Given the description of an element on the screen output the (x, y) to click on. 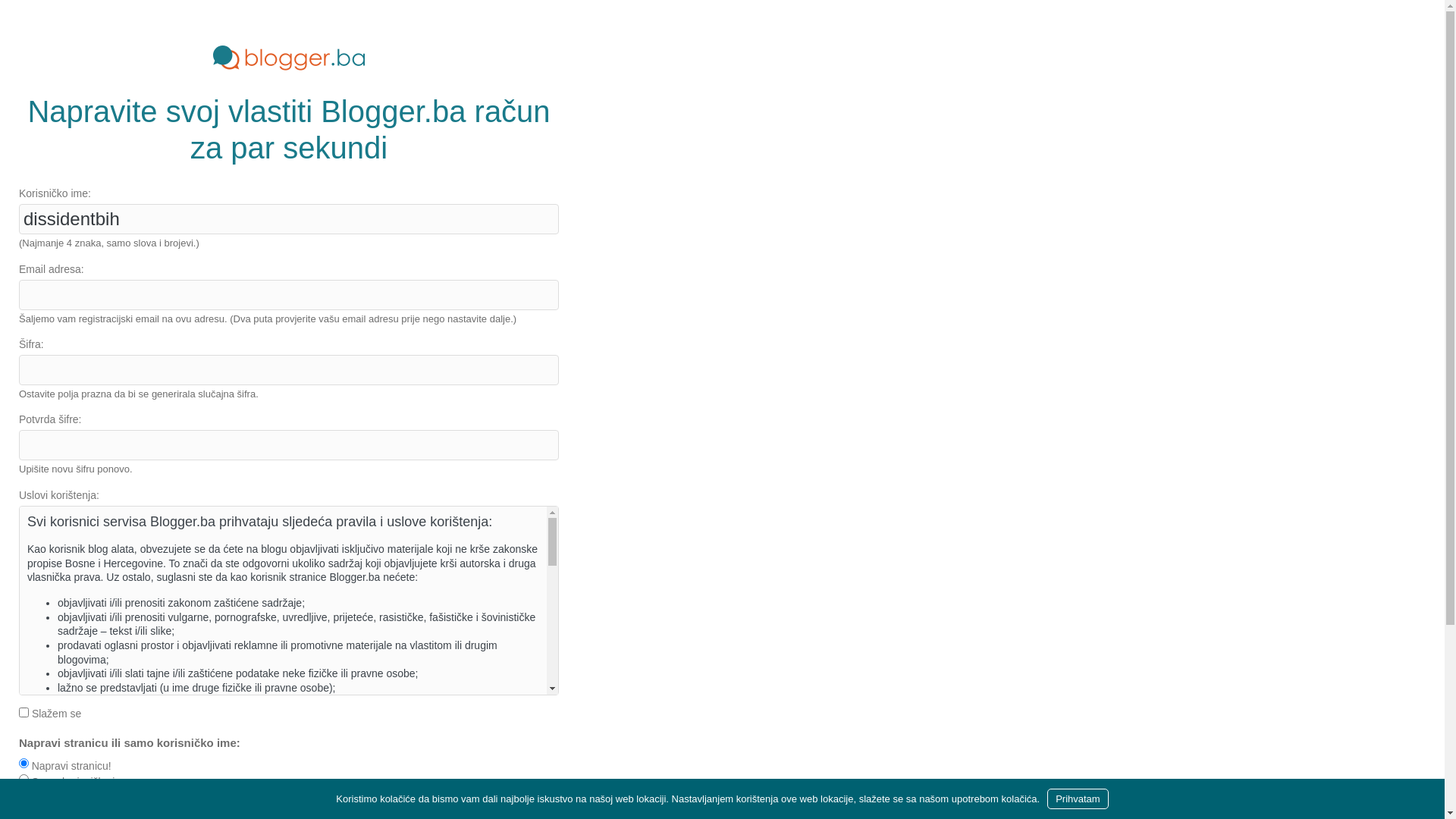
Prihvatam Element type: text (1077, 798)
